Given the description of an element on the screen output the (x, y) to click on. 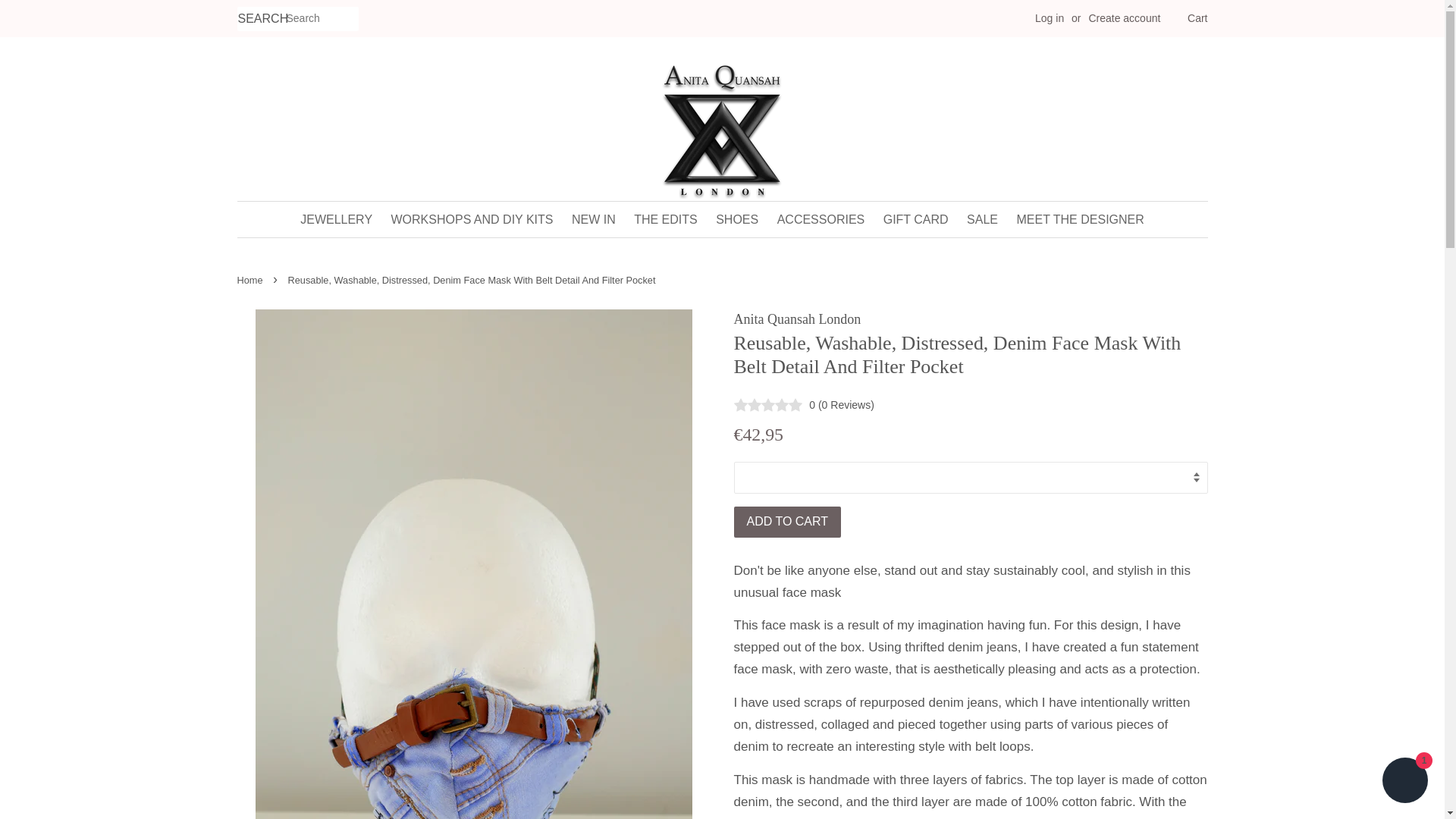
Back to the frontpage (250, 279)
Log in (1049, 18)
SEARCH (260, 18)
Create account (1123, 18)
Cart (1197, 18)
Shopify online store chat (1404, 781)
